Given the description of an element on the screen output the (x, y) to click on. 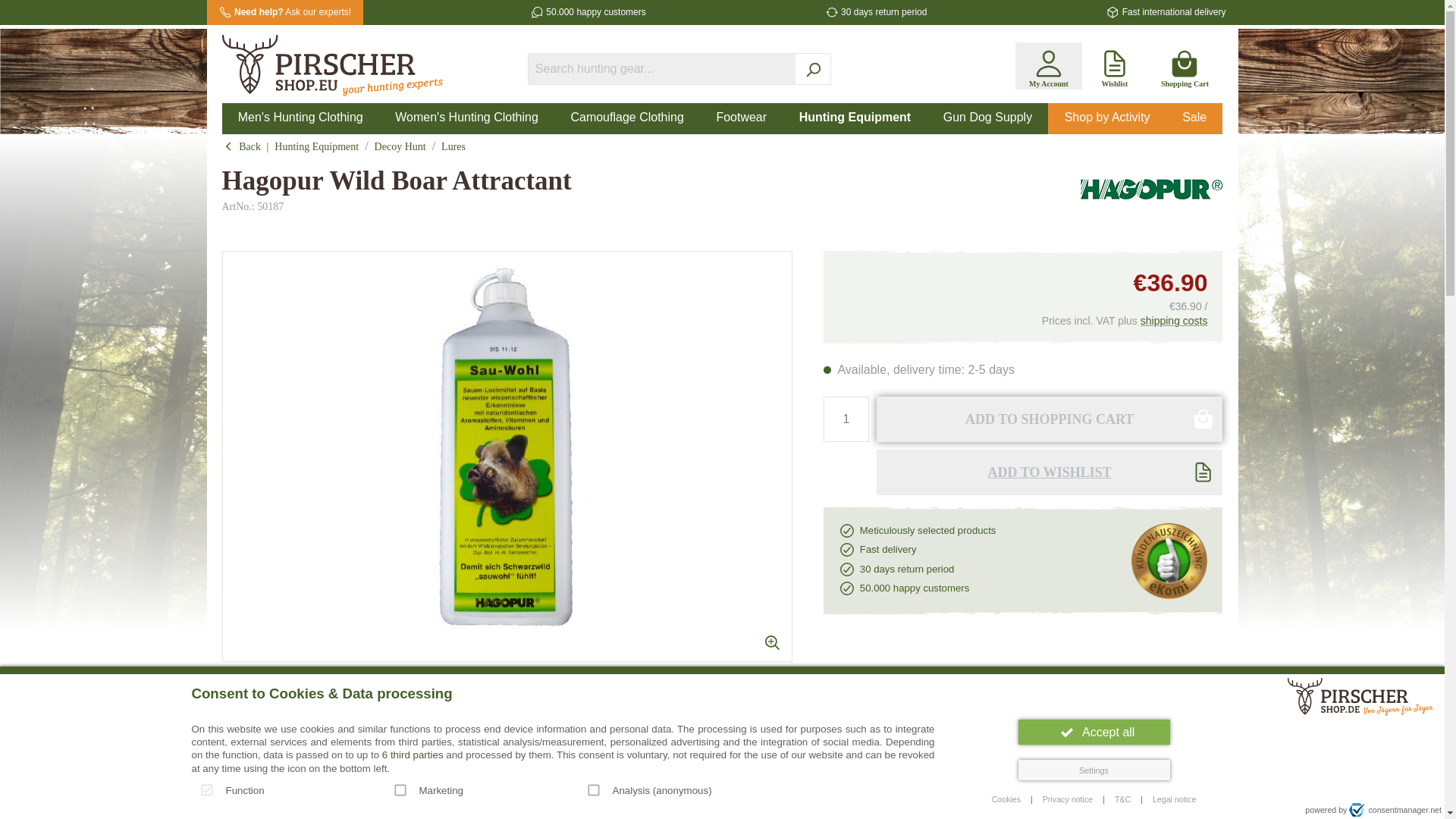
My Account (1047, 65)
Ask customer service from Pirscher Shop (292, 11)
1 (846, 419)
Privacy notice (1067, 799)
Shopping cart (1185, 65)
Cookies (1006, 799)
Footwear (741, 118)
Women's Hunting Clothing (466, 118)
Women's Hunting Clothing  (466, 118)
6 third parties (412, 754)
Wishlist (1114, 65)
Purpose (562, 791)
Gun Dog Supply (987, 118)
Hunting Equipment (854, 118)
Settings (1093, 770)
